Given the description of an element on the screen output the (x, y) to click on. 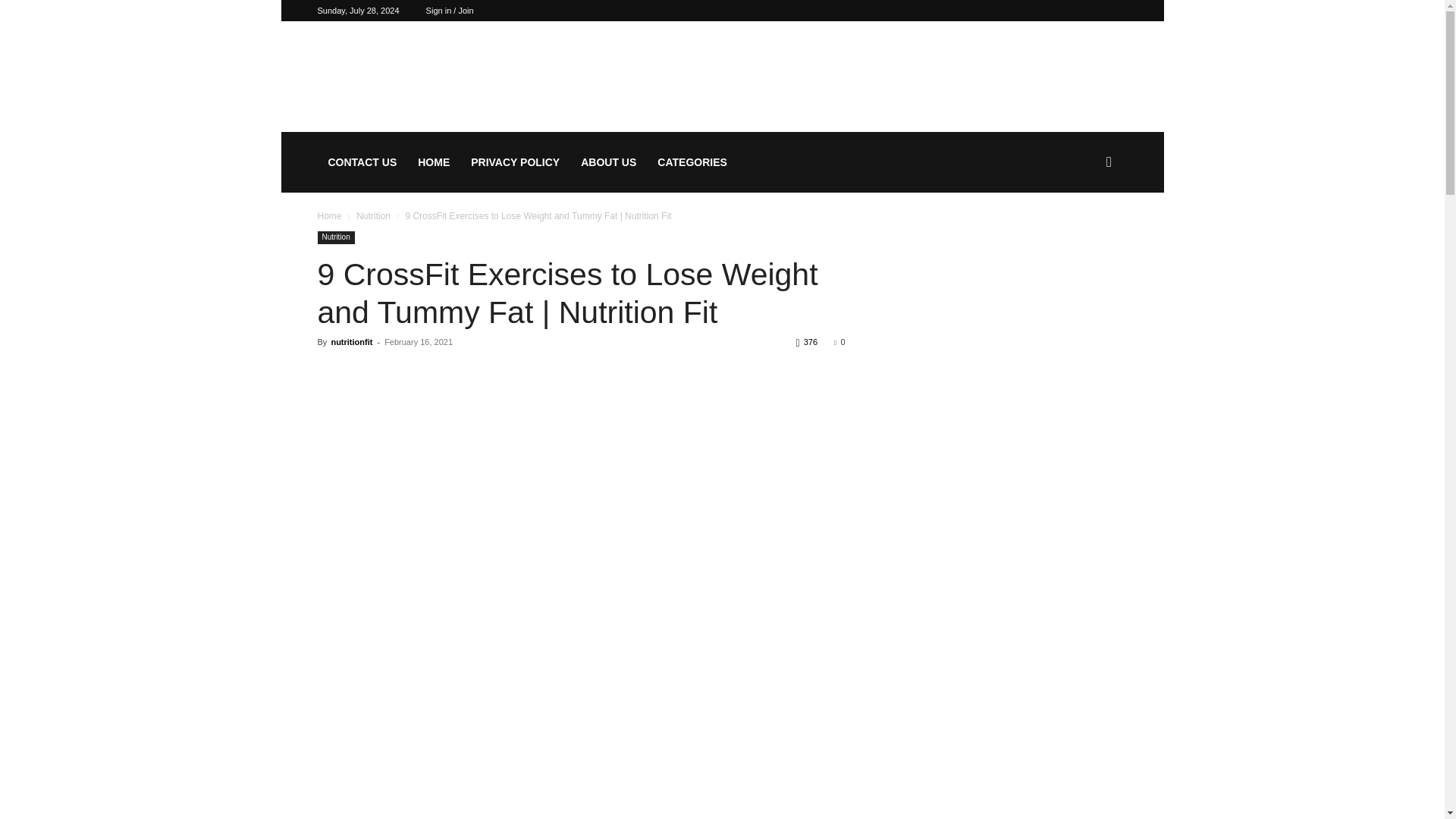
Nutrition (335, 237)
CATEGORIES (692, 161)
nutritionfit (351, 341)
View all posts in Nutrition (373, 215)
CONTACT US (362, 161)
PRIVACY POLICY (515, 161)
Home (328, 215)
Nutrition (373, 215)
ABOUT US (608, 161)
Search (1085, 234)
HOME (433, 161)
0 (839, 341)
